Given the description of an element on the screen output the (x, y) to click on. 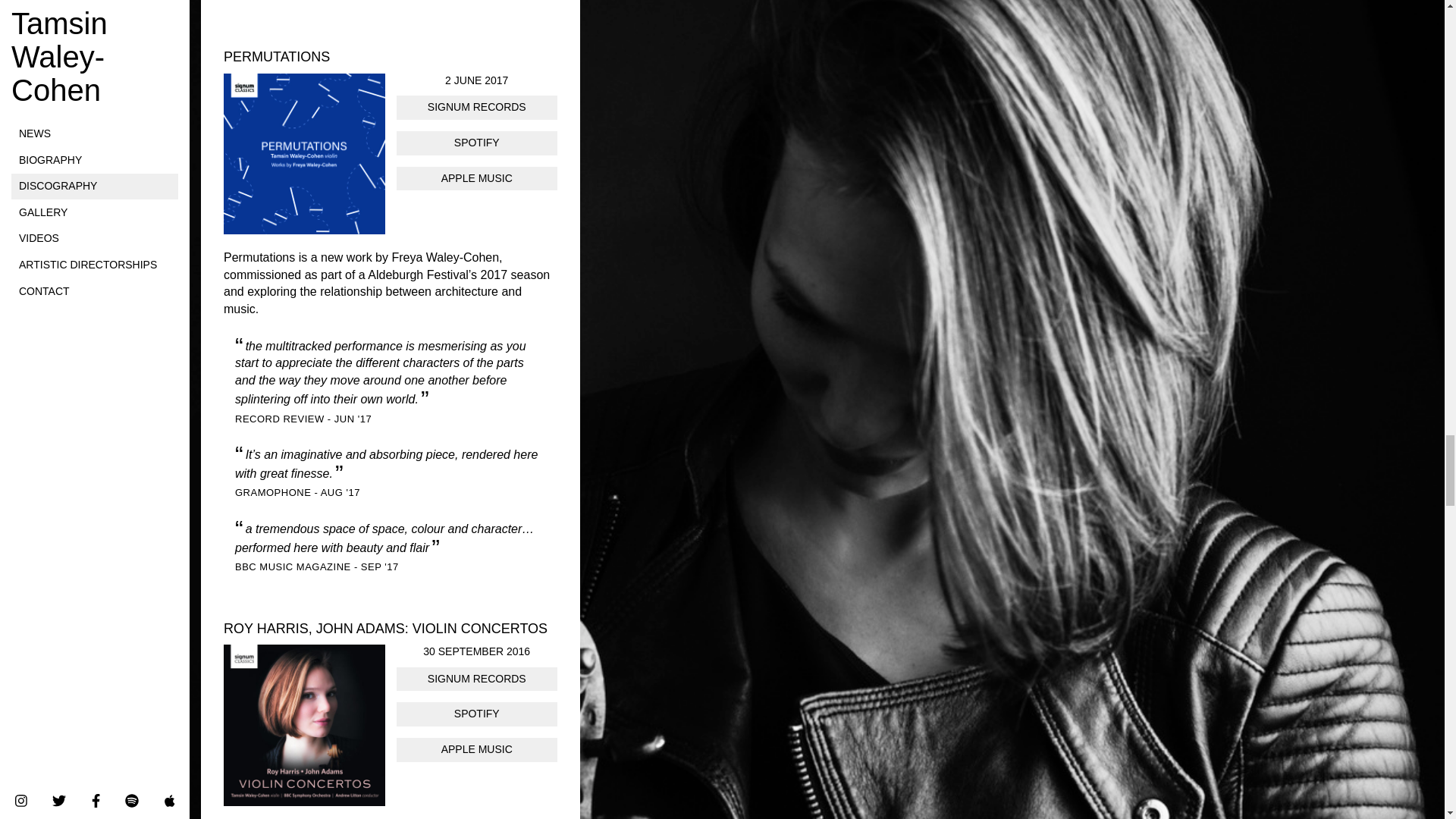
SIGNUM RECORDS (476, 107)
APPLE MUSIC (476, 749)
SIGNUM RECORDS (476, 679)
APPLE MUSIC (476, 178)
SPOTIFY (476, 713)
SPOTIFY (476, 143)
